Given the description of an element on the screen output the (x, y) to click on. 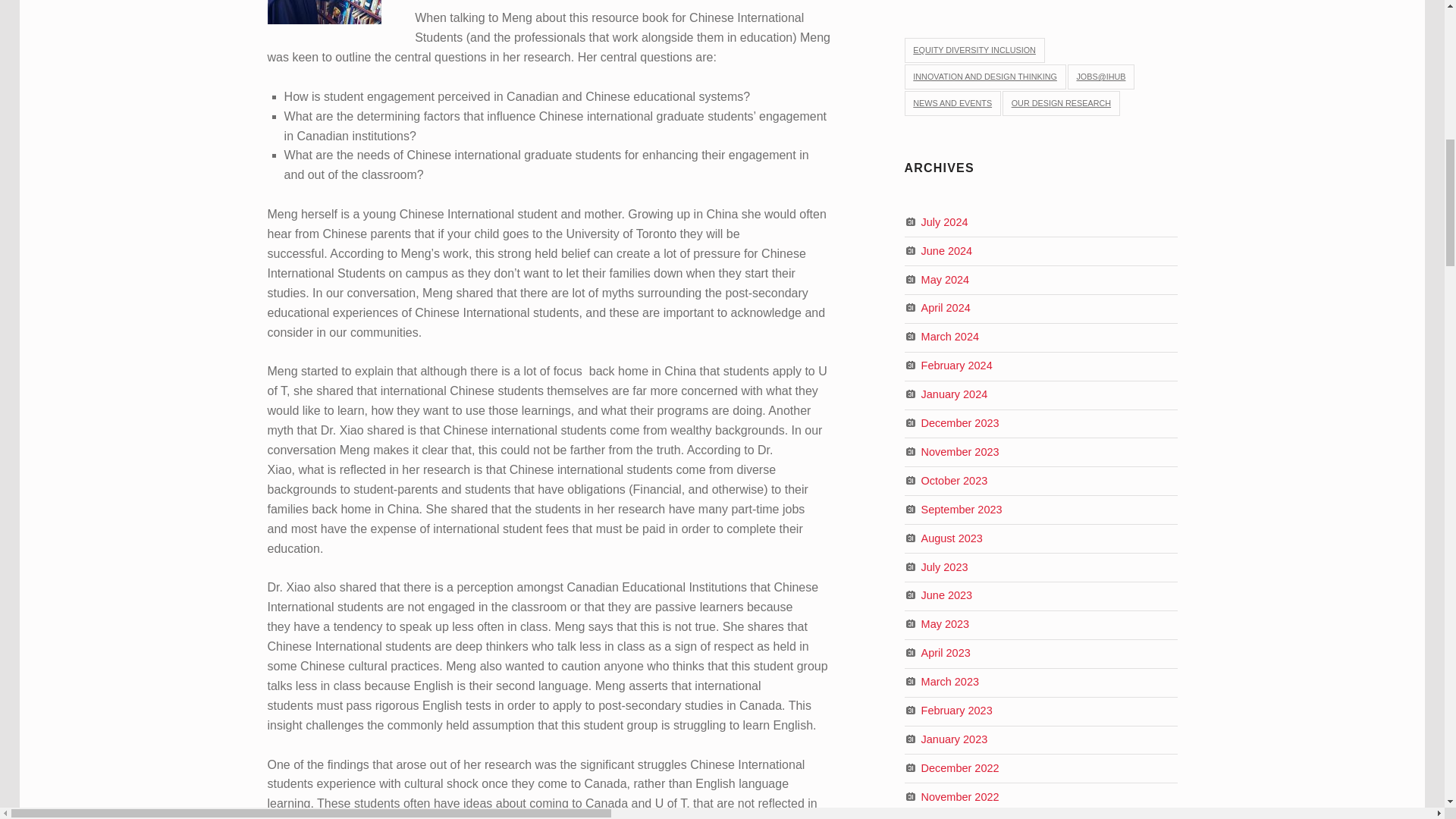
July 2024 (944, 221)
April 2024 (946, 307)
NEWS AND EVENTS (952, 103)
June 2024 (946, 250)
EQUITY DIVERSITY INCLUSION (973, 50)
INNOVATION AND DESIGN THINKING (984, 76)
May 2024 (945, 278)
OUR DESIGN RESEARCH (1061, 103)
